Given the description of an element on the screen output the (x, y) to click on. 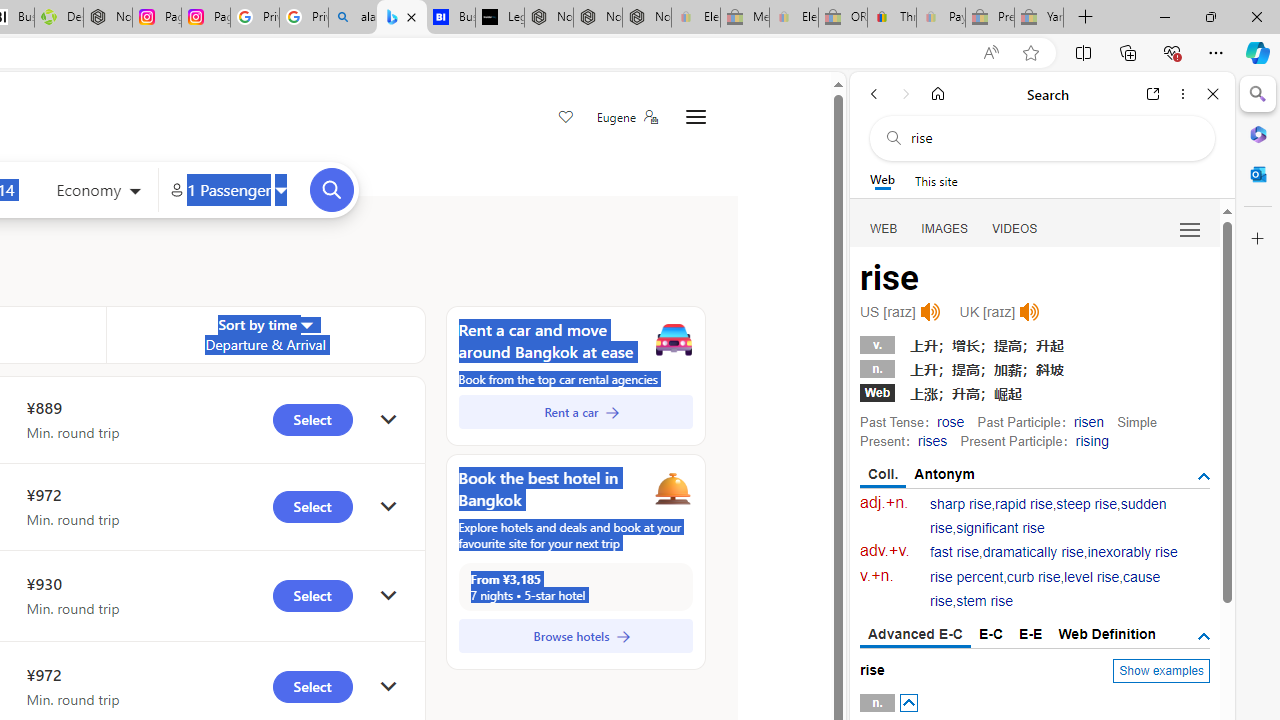
Sort by time Sorter Departure & Arrival (265, 334)
curb rise (1033, 577)
Advanced E-C (915, 635)
fast rise (955, 552)
Save (565, 118)
rapid rise (1023, 503)
Click to listen (1029, 312)
E-C (991, 633)
Antonym (945, 473)
cause rise (1045, 589)
